Given the description of an element on the screen output the (x, y) to click on. 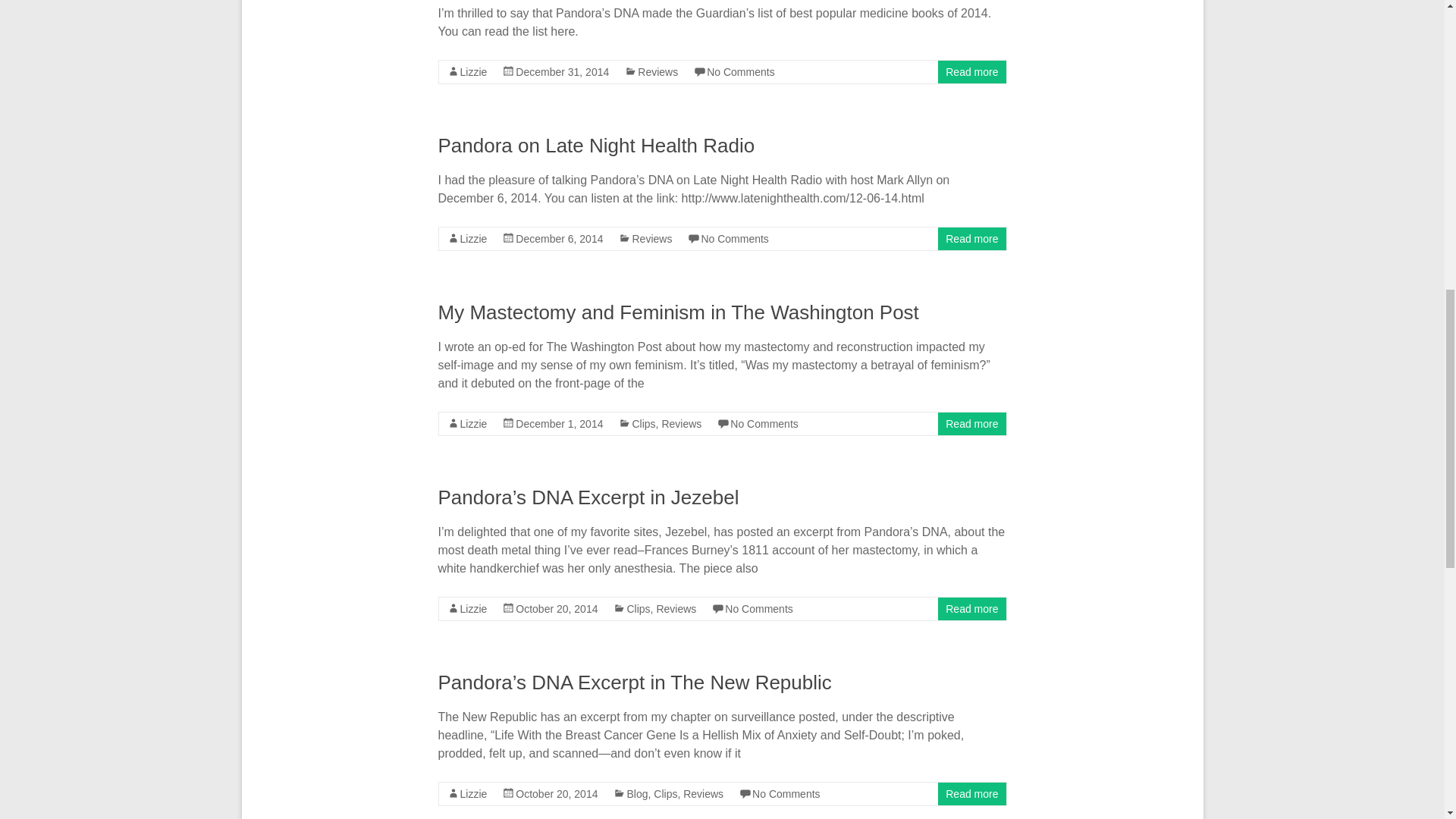
Pandora on Late Night Health Radio (596, 145)
December 31, 2014 (561, 71)
8:32 pm (558, 238)
7:27 pm (561, 71)
My Mastectomy and Feminism in The Washington Post (678, 312)
Lizzie (473, 71)
1:12 am (558, 423)
Pandora on Late Night Health Radio (596, 145)
Reviews (657, 71)
Read more (970, 71)
